Given the description of an element on the screen output the (x, y) to click on. 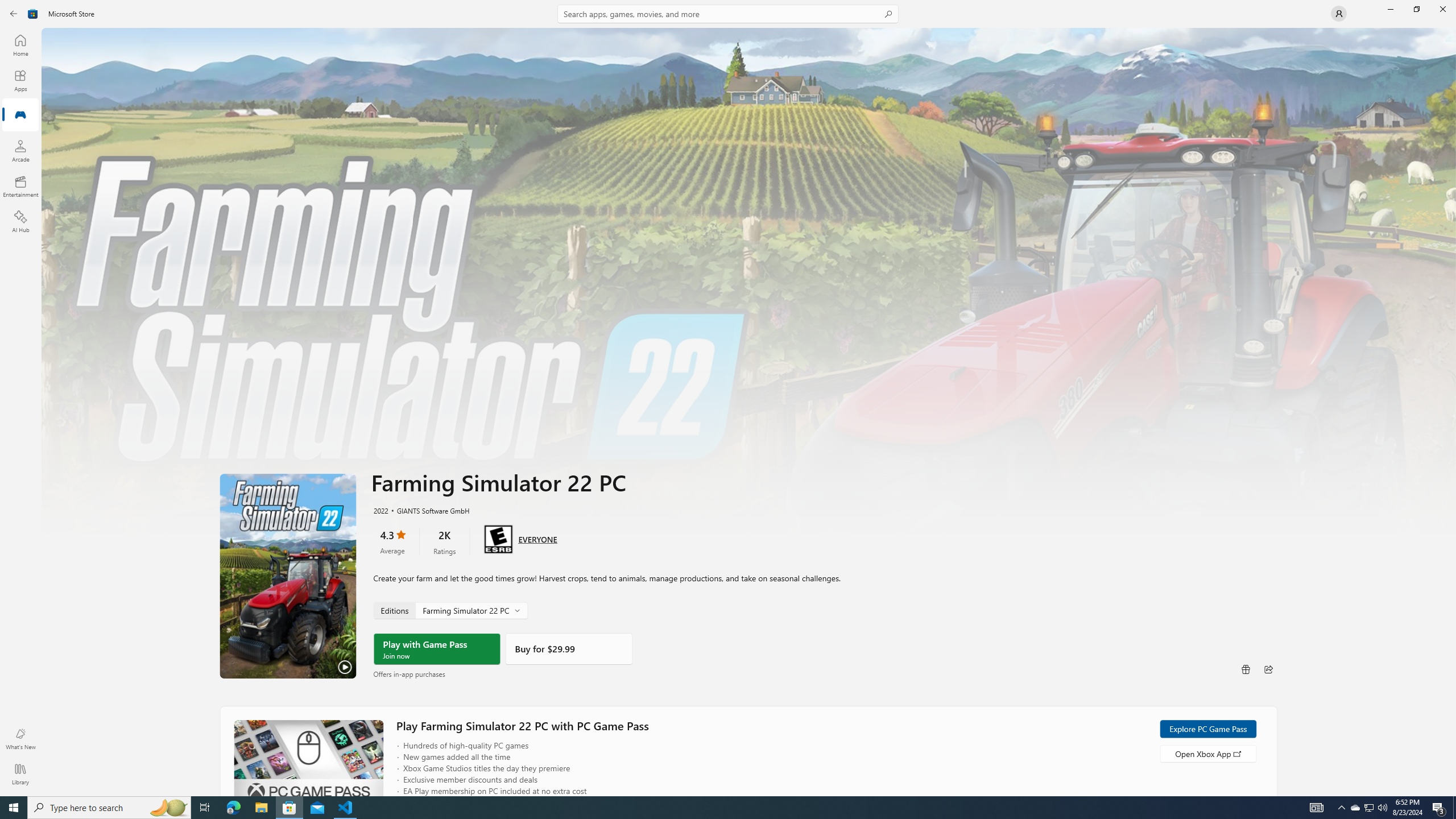
Share (1267, 669)
Back (13, 13)
Play Trailer (287, 575)
Farming Simulator 22 PC, Edition selector (449, 610)
Buy as gift (1245, 669)
